Given the description of an element on the screen output the (x, y) to click on. 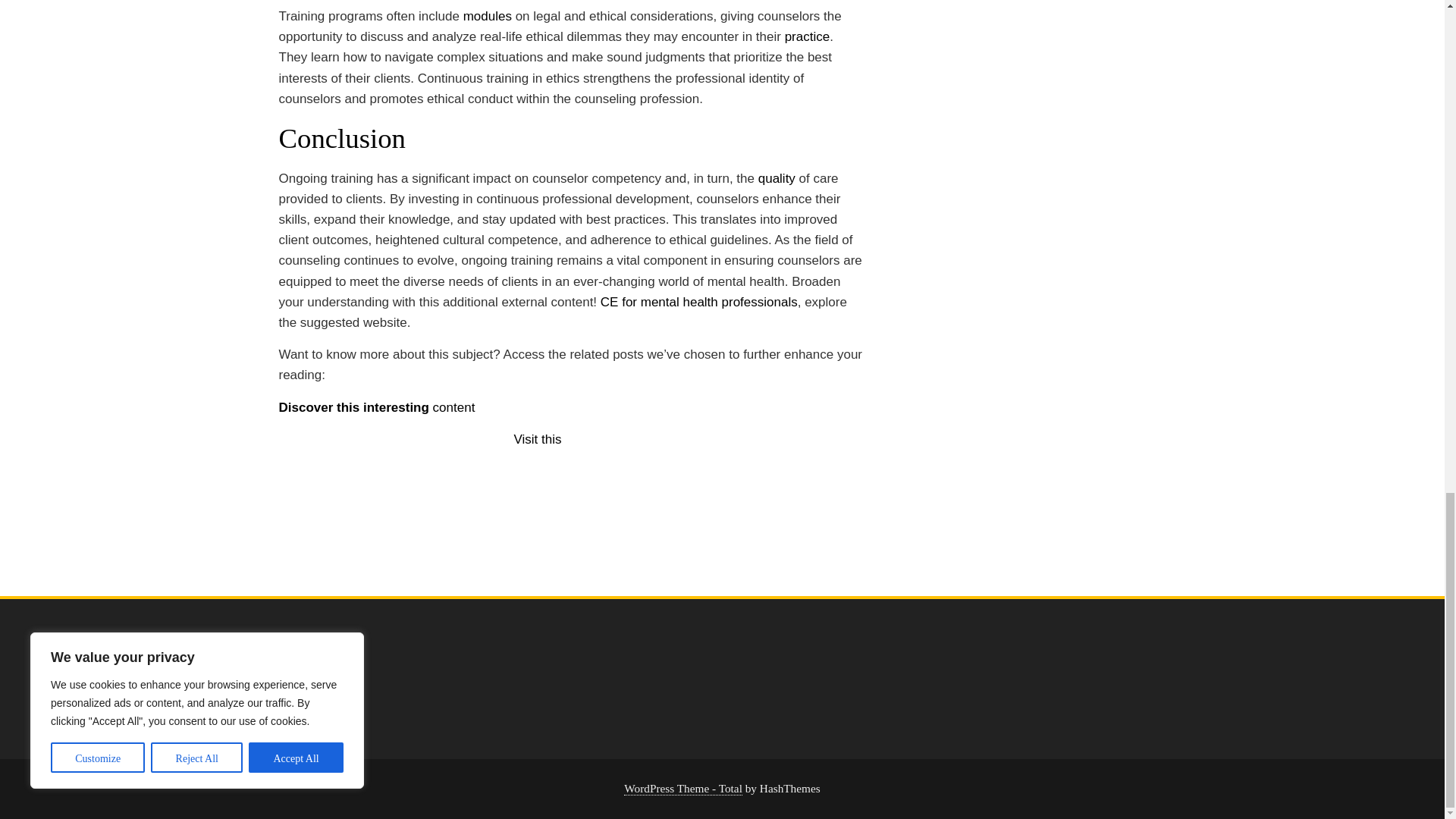
CE for mental health professionals (698, 301)
modules (487, 16)
quality (776, 178)
Visit this (537, 439)
practice (806, 36)
Discover this interesting content (377, 407)
